Given the description of an element on the screen output the (x, y) to click on. 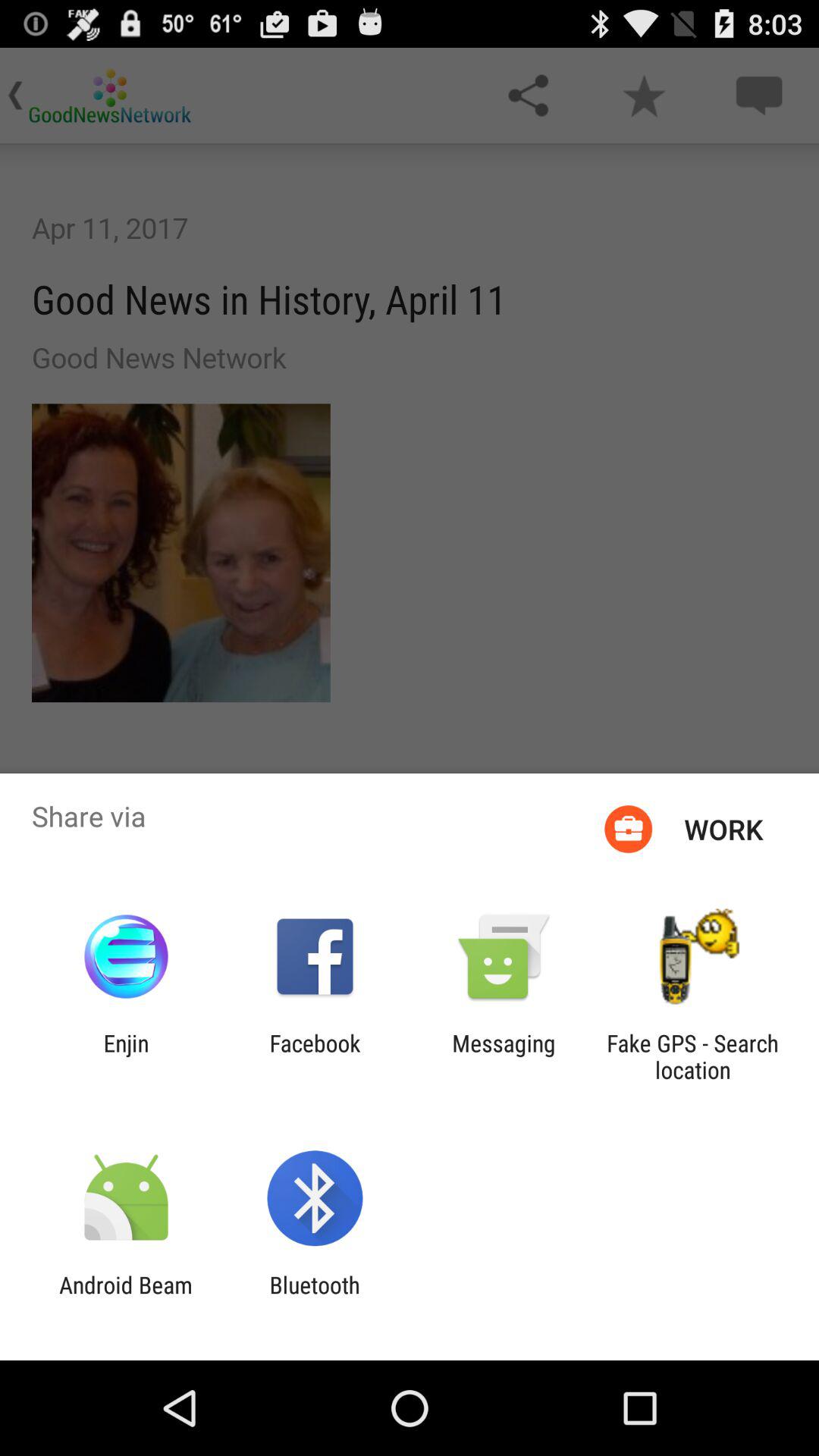
press icon to the right of android beam app (314, 1298)
